Given the description of an element on the screen output the (x, y) to click on. 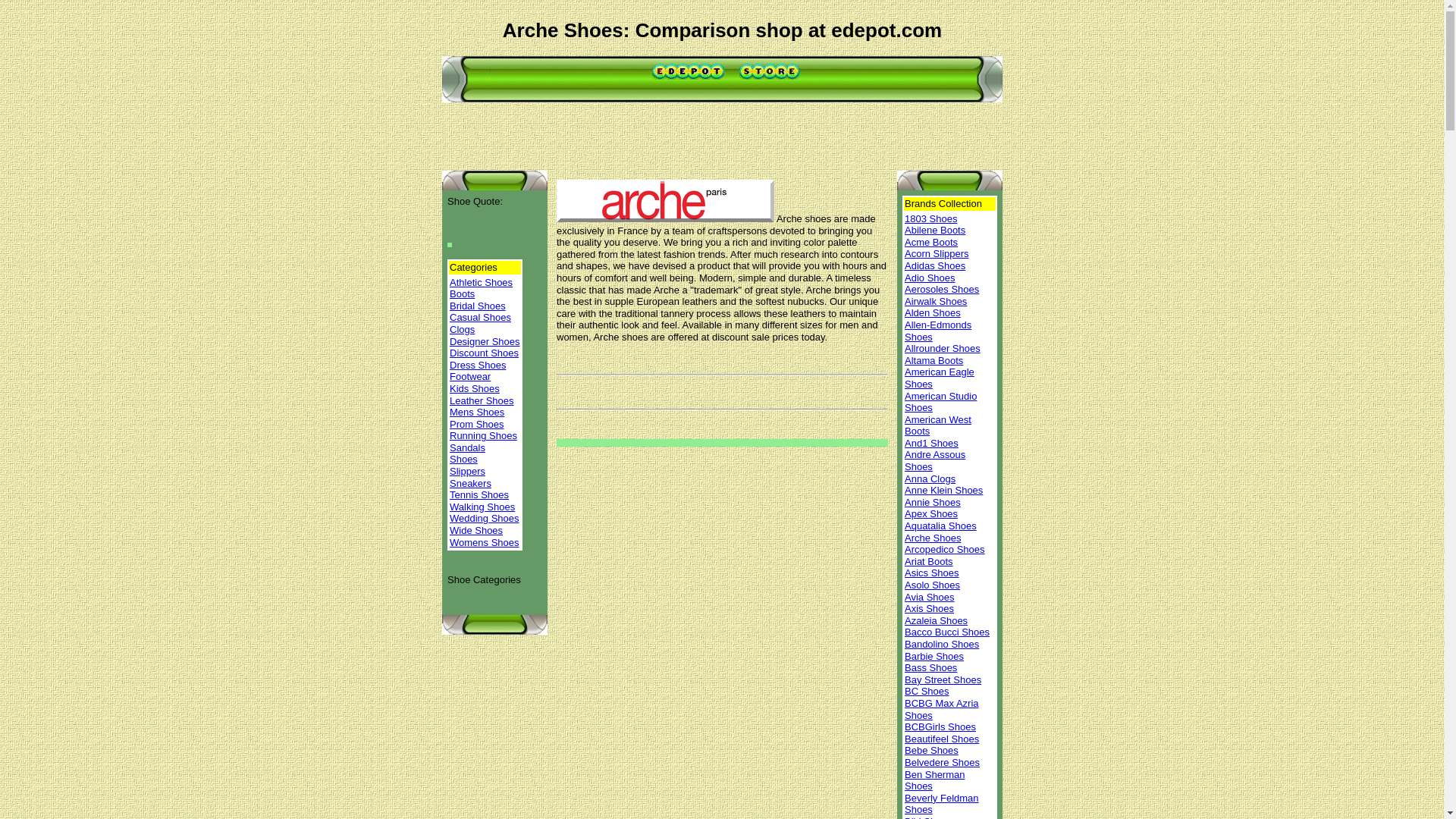
Tennis Shoes (478, 494)
Allen-Edmonds Shoes (937, 331)
Aerosoles Shoes (941, 288)
Boots (461, 293)
Running Shoes (482, 435)
Wedding Shoes (484, 518)
Alden Shoes (932, 312)
Wide Shoes (475, 530)
Bridal Shoes (477, 306)
Leather Shoes (481, 399)
